Given the description of an element on the screen output the (x, y) to click on. 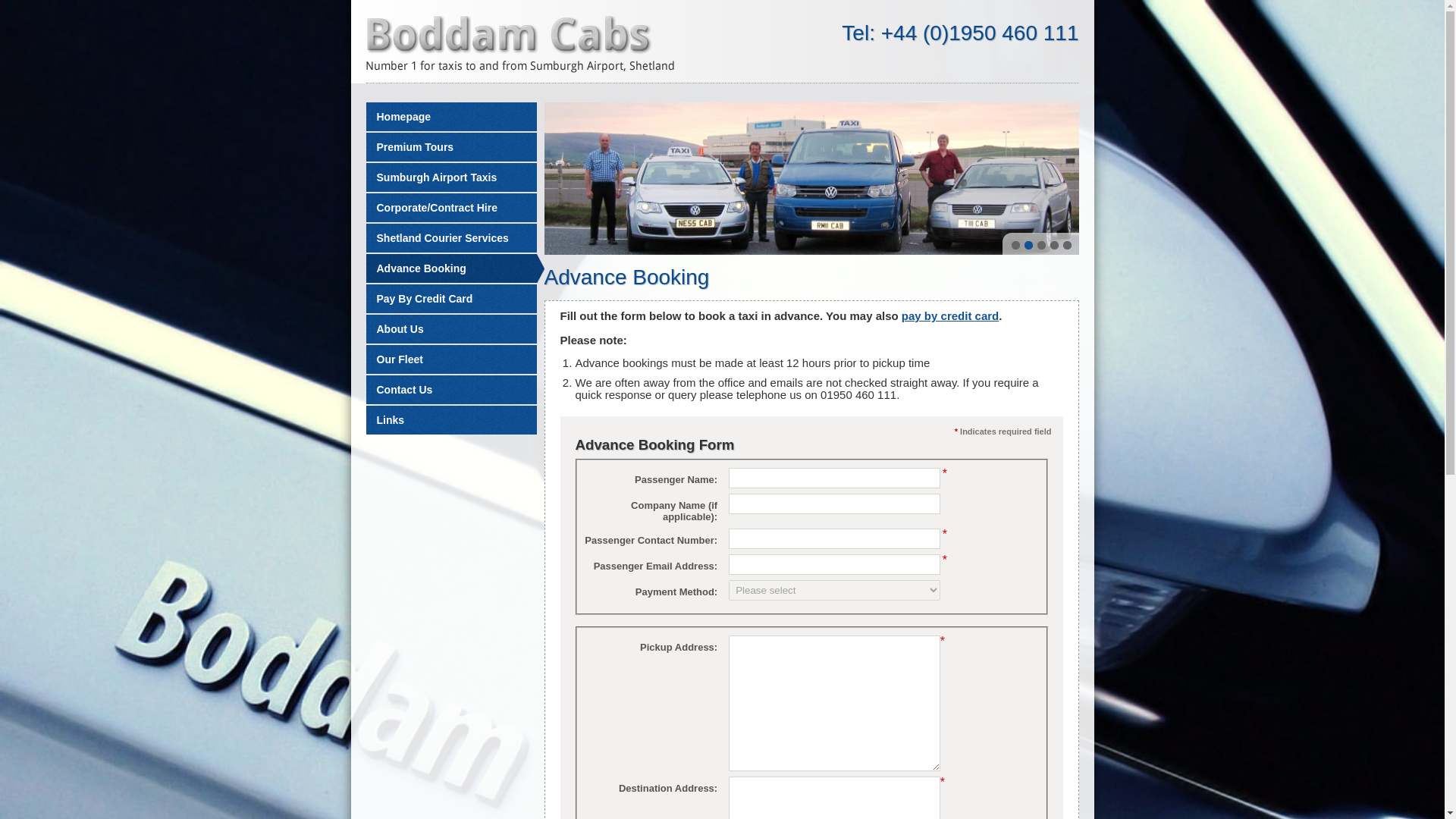
pay by credit card (949, 315)
Homepage (450, 116)
Links (450, 419)
Pay By Credit Card (450, 298)
Contact Us (450, 389)
Shetland Courier Services (450, 237)
Our Fleet (450, 358)
About Us (450, 328)
Premium Tours (450, 146)
Advance Booking (454, 267)
Sumburgh Airport Taxis (450, 176)
